Given the description of an element on the screen output the (x, y) to click on. 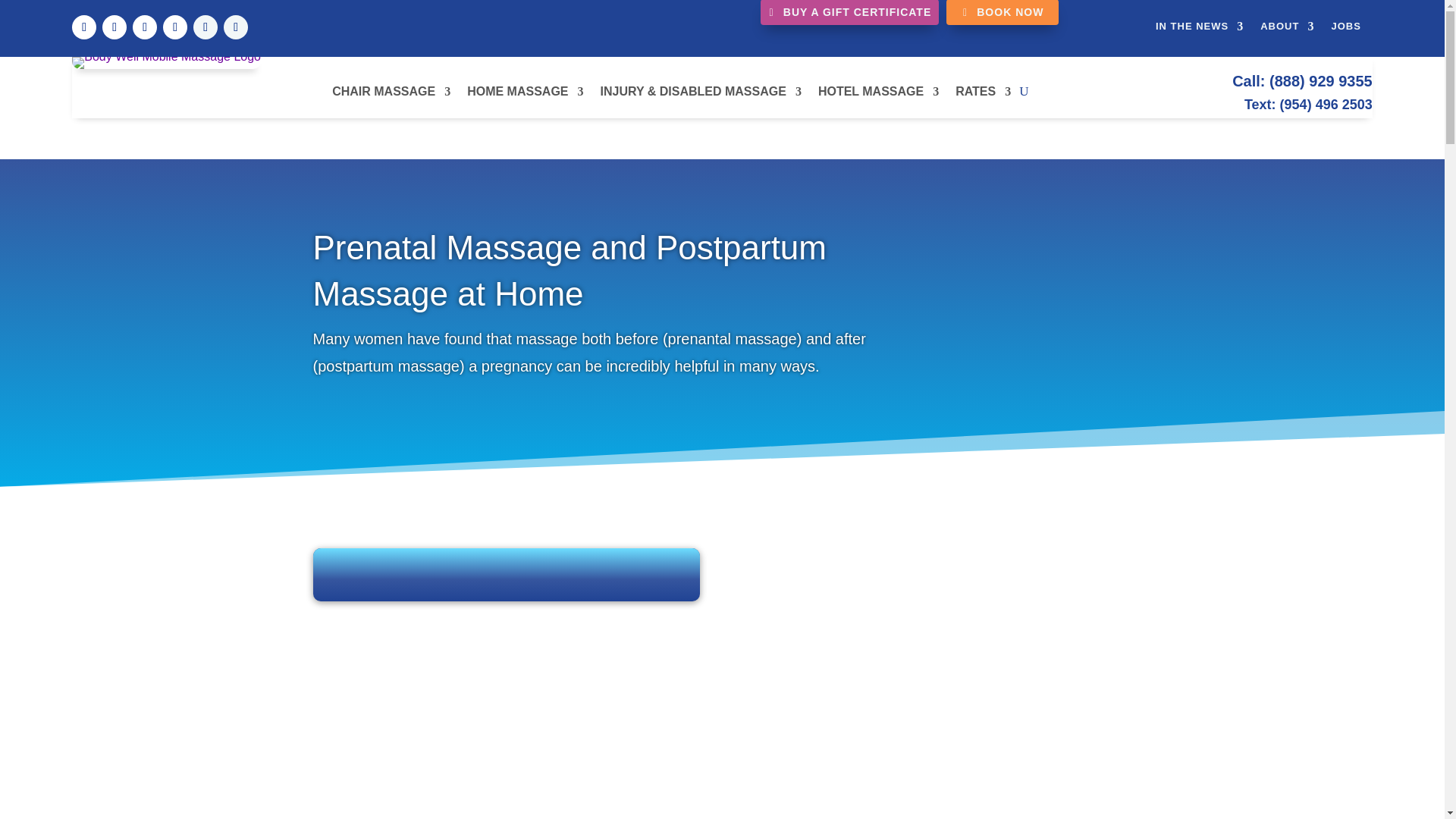
BOOK NOW (1002, 12)
Follow on Pinterest (144, 27)
BUY A GIFT CERTIFICATE (849, 12)
ABOUT (1287, 29)
Follow on Youtube (175, 27)
Follow on Instagram (204, 27)
IN THE NEWS (1199, 29)
Follow on LinkedIn (235, 27)
Follow on X (113, 27)
Follow on Facebook (83, 27)
